Given the description of an element on the screen output the (x, y) to click on. 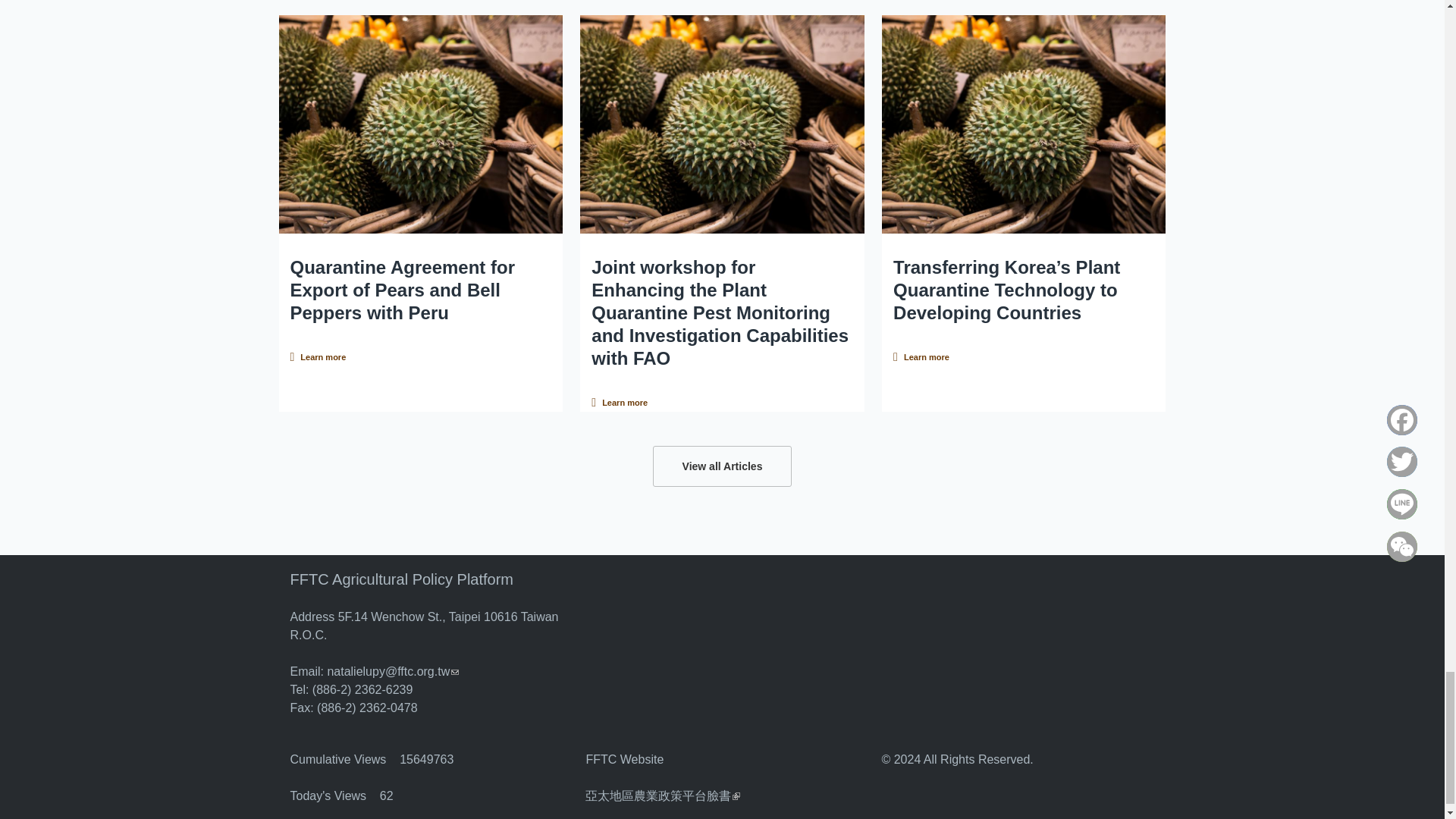
Learn more (317, 357)
Learn more (921, 357)
View all Articles (722, 465)
Learn more (619, 402)
